Given the description of an element on the screen output the (x, y) to click on. 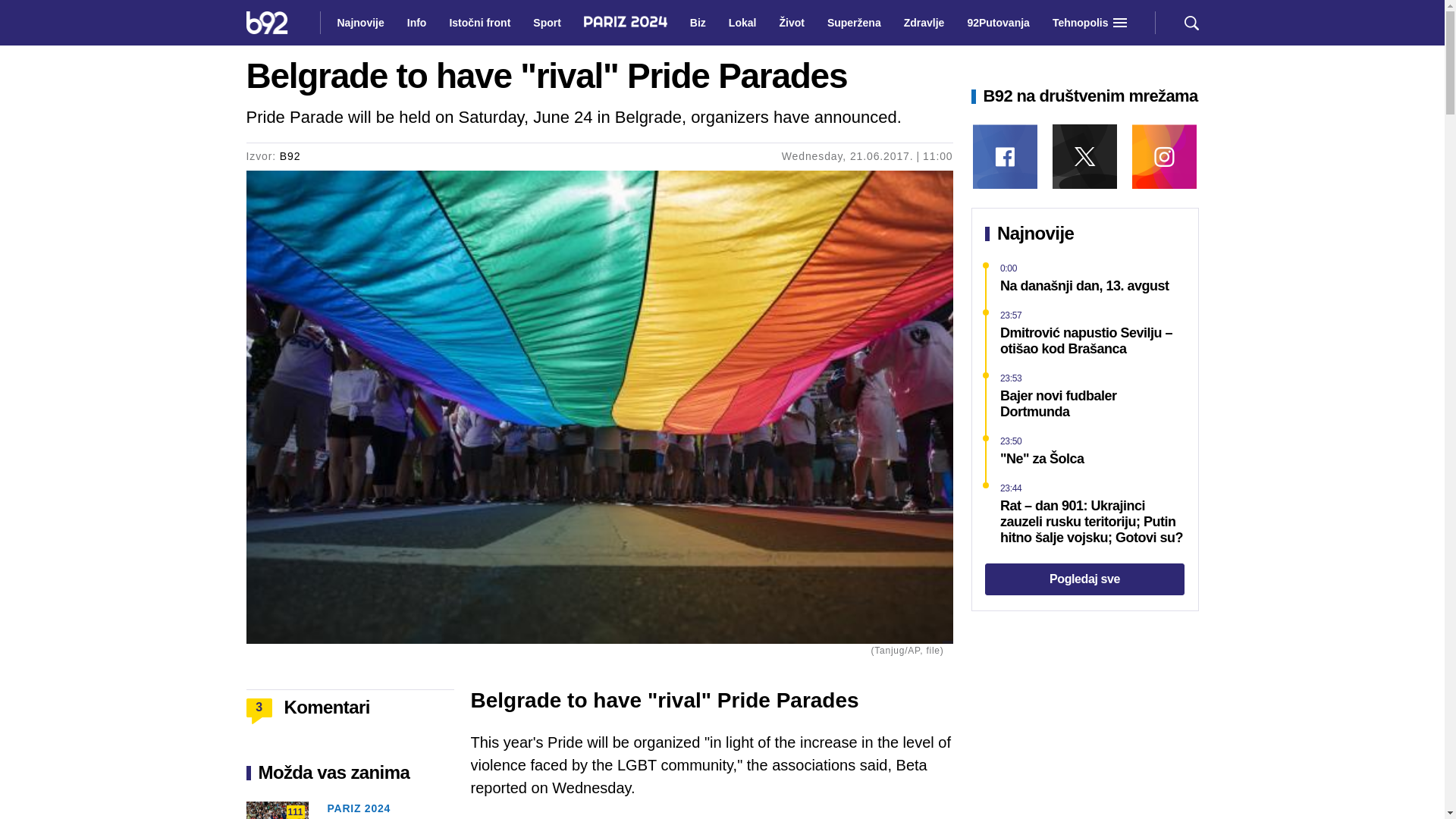
Lokal (742, 22)
Sport (547, 22)
Tehnopolis (1080, 22)
Zdravlje (924, 22)
92Putovanja (997, 22)
Najnovije (360, 22)
